Given the description of an element on the screen output the (x, y) to click on. 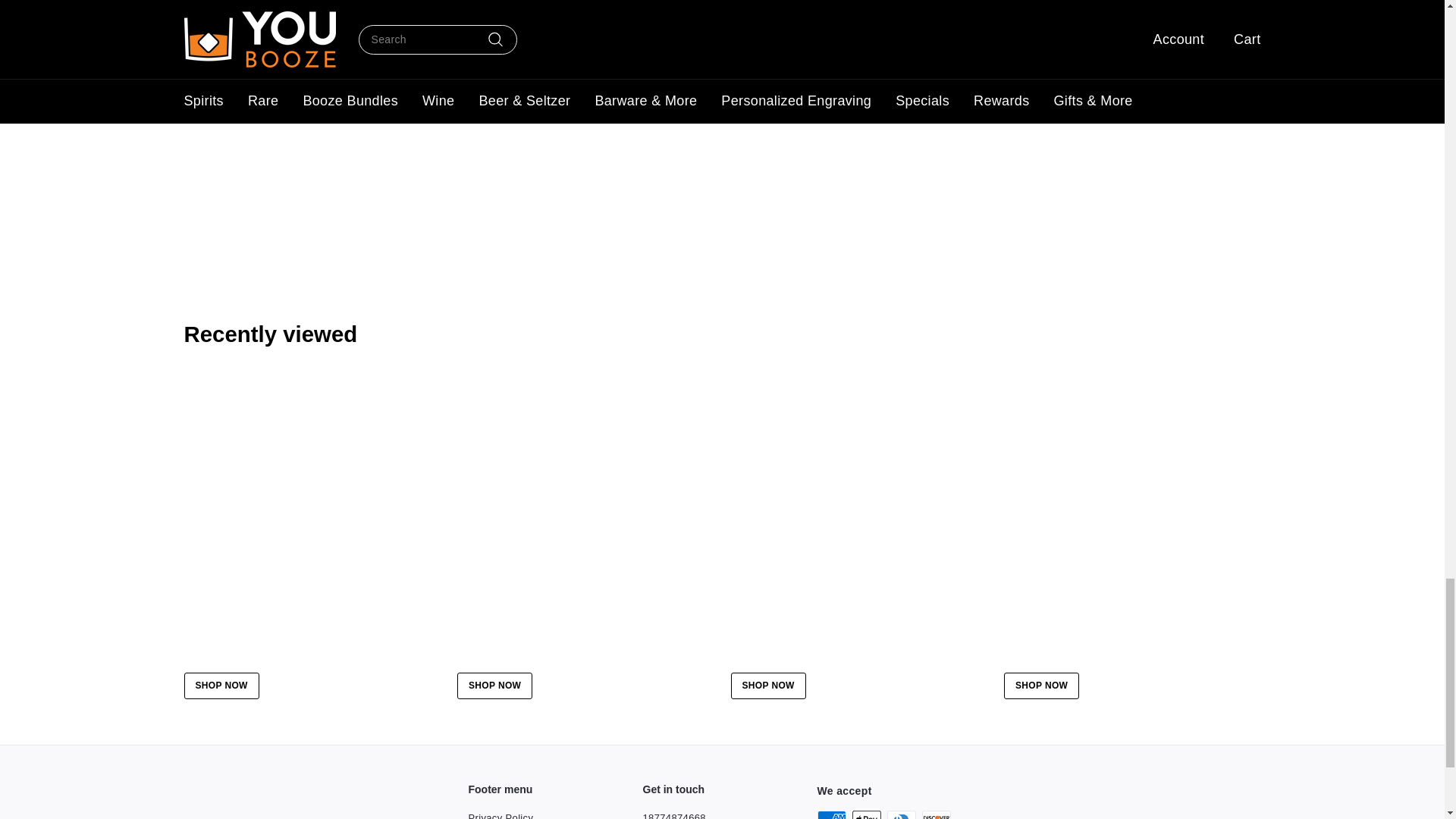
American Express (830, 814)
Apple Pay (865, 814)
Diners Club (900, 814)
Discover (935, 814)
